Given the description of an element on the screen output the (x, y) to click on. 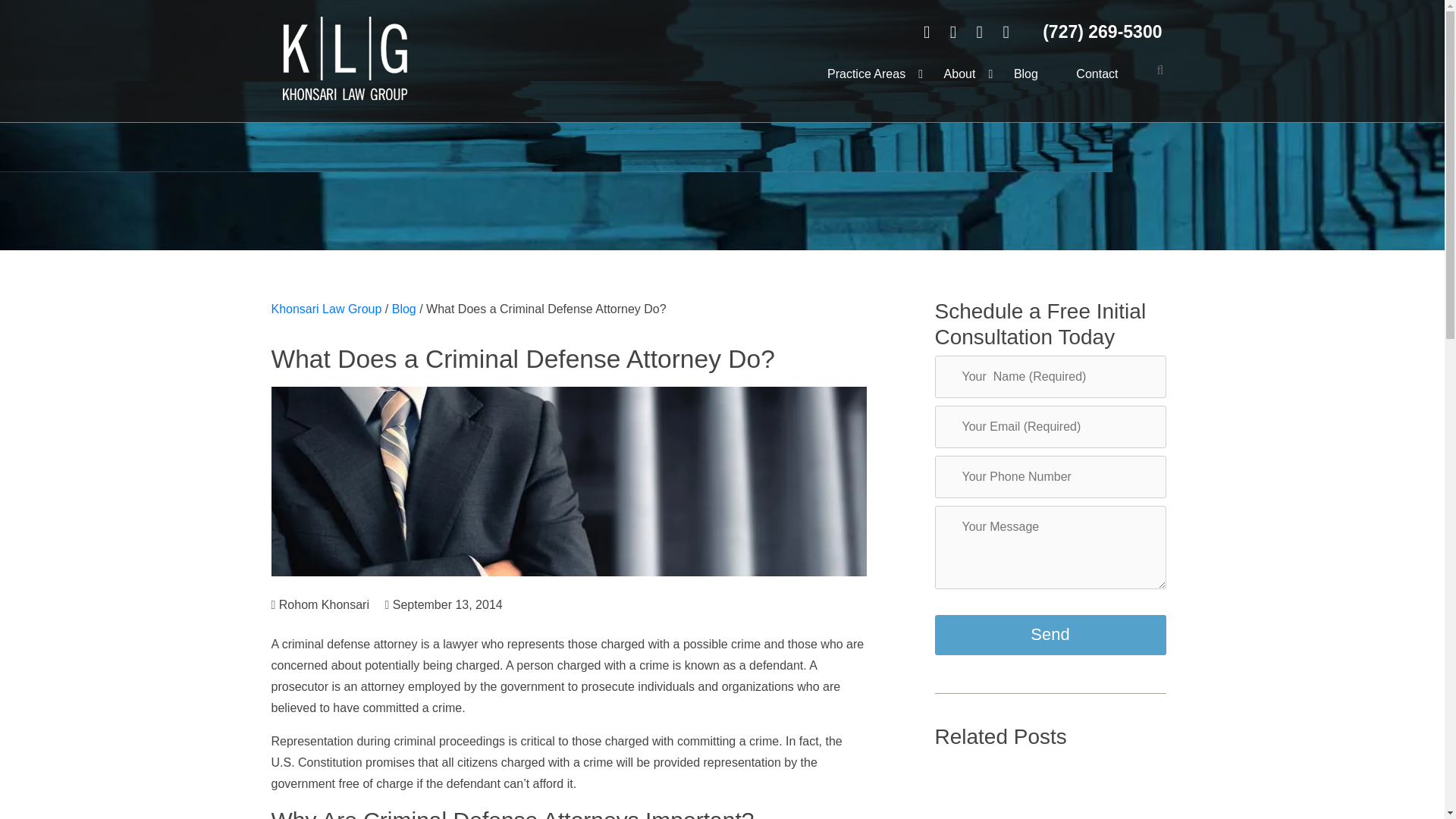
Practice Areas (866, 73)
Khonsari Law Group (325, 308)
Blog (1025, 73)
Contact (1096, 73)
About (959, 73)
Blog (403, 308)
Send (1050, 635)
